Given the description of an element on the screen output the (x, y) to click on. 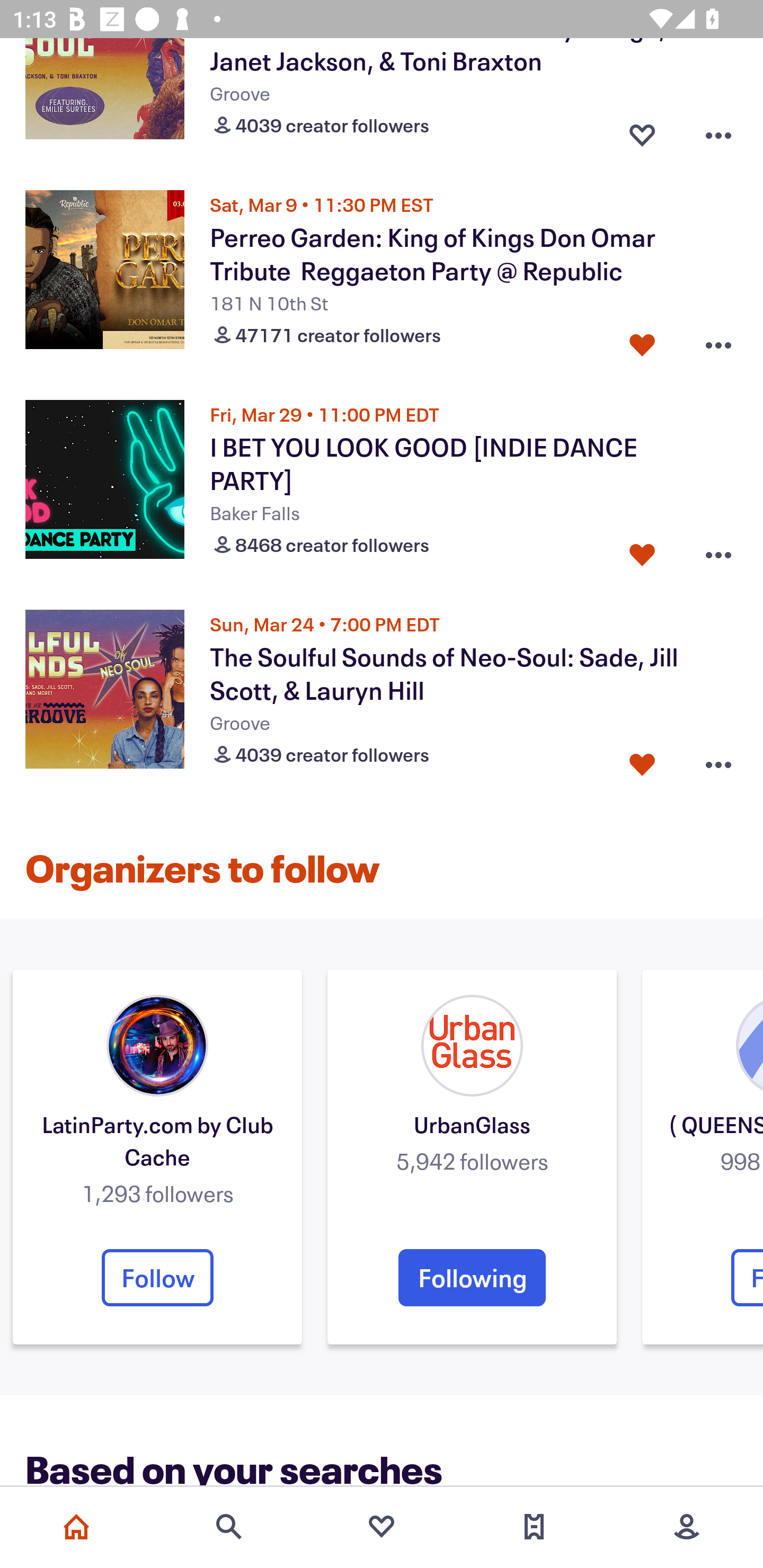
Contact organizer (646, 118)
Share with friends (722, 118)
